Given the description of an element on the screen output the (x, y) to click on. 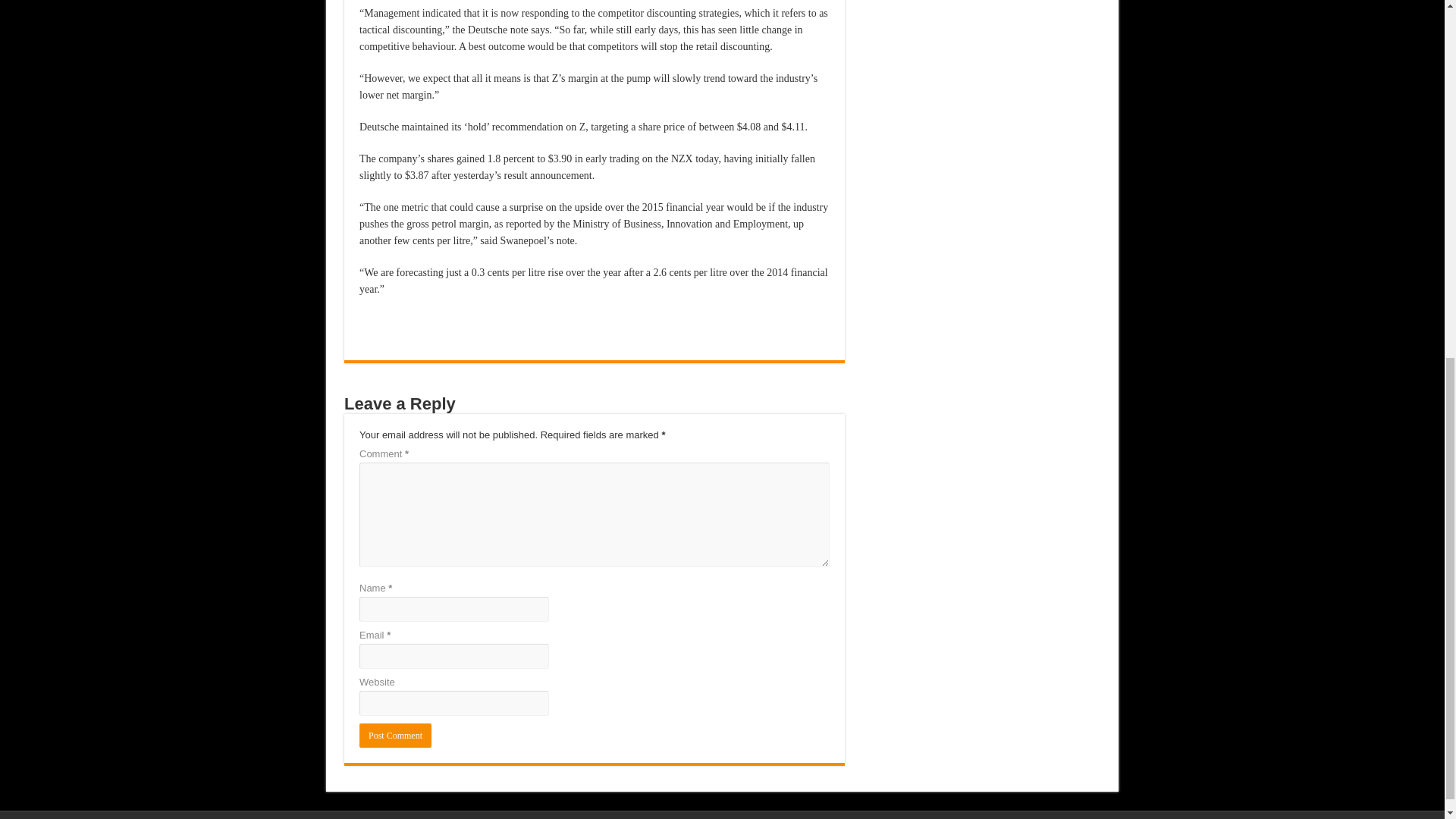
Post Comment (394, 735)
